Given the description of an element on the screen output the (x, y) to click on. 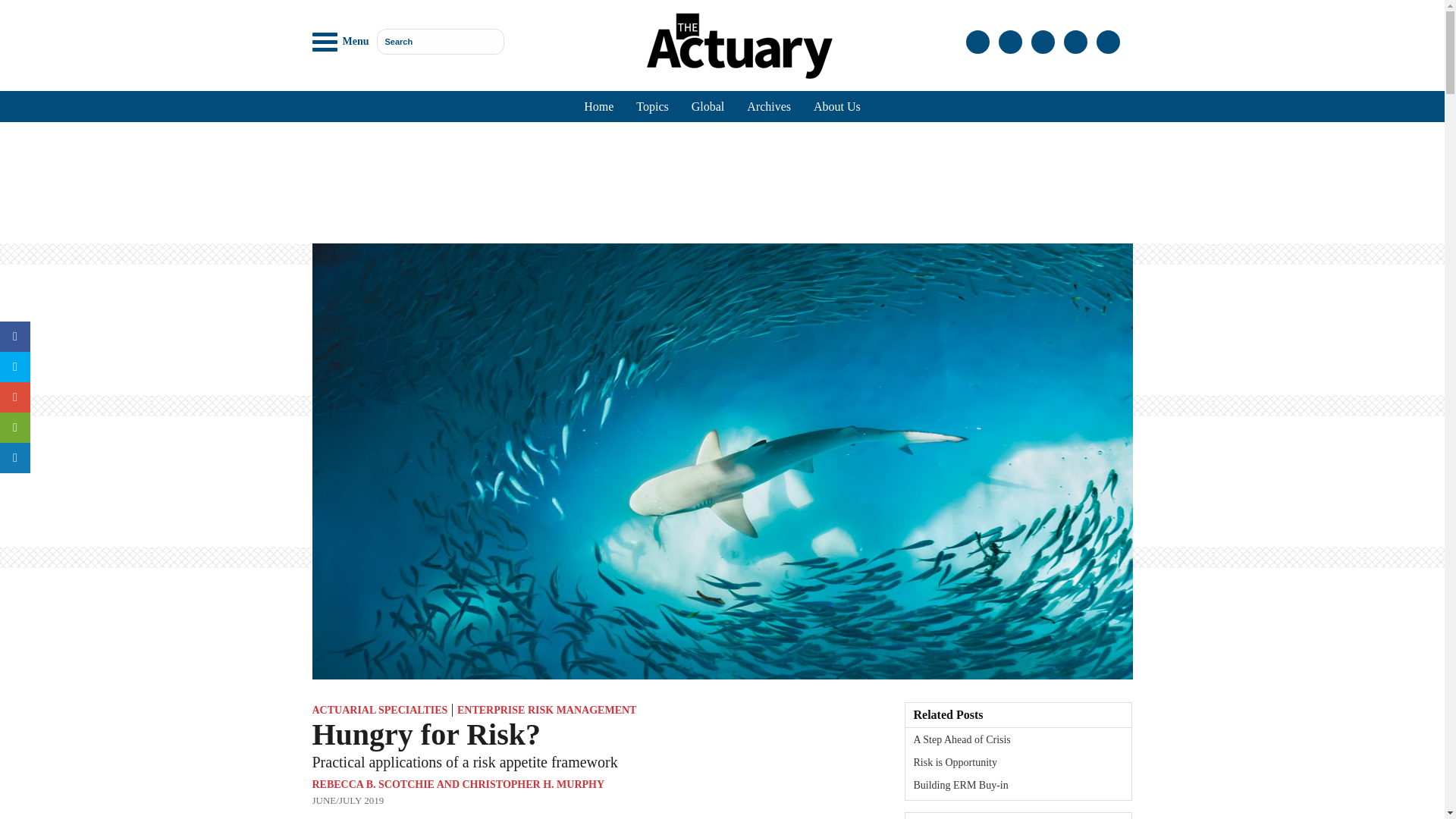
Archives (768, 106)
Global (707, 106)
Search (439, 41)
Topics (651, 106)
The Actuary Magazine (739, 45)
Home (598, 106)
3rd party ad content (721, 182)
